Given the description of an element on the screen output the (x, y) to click on. 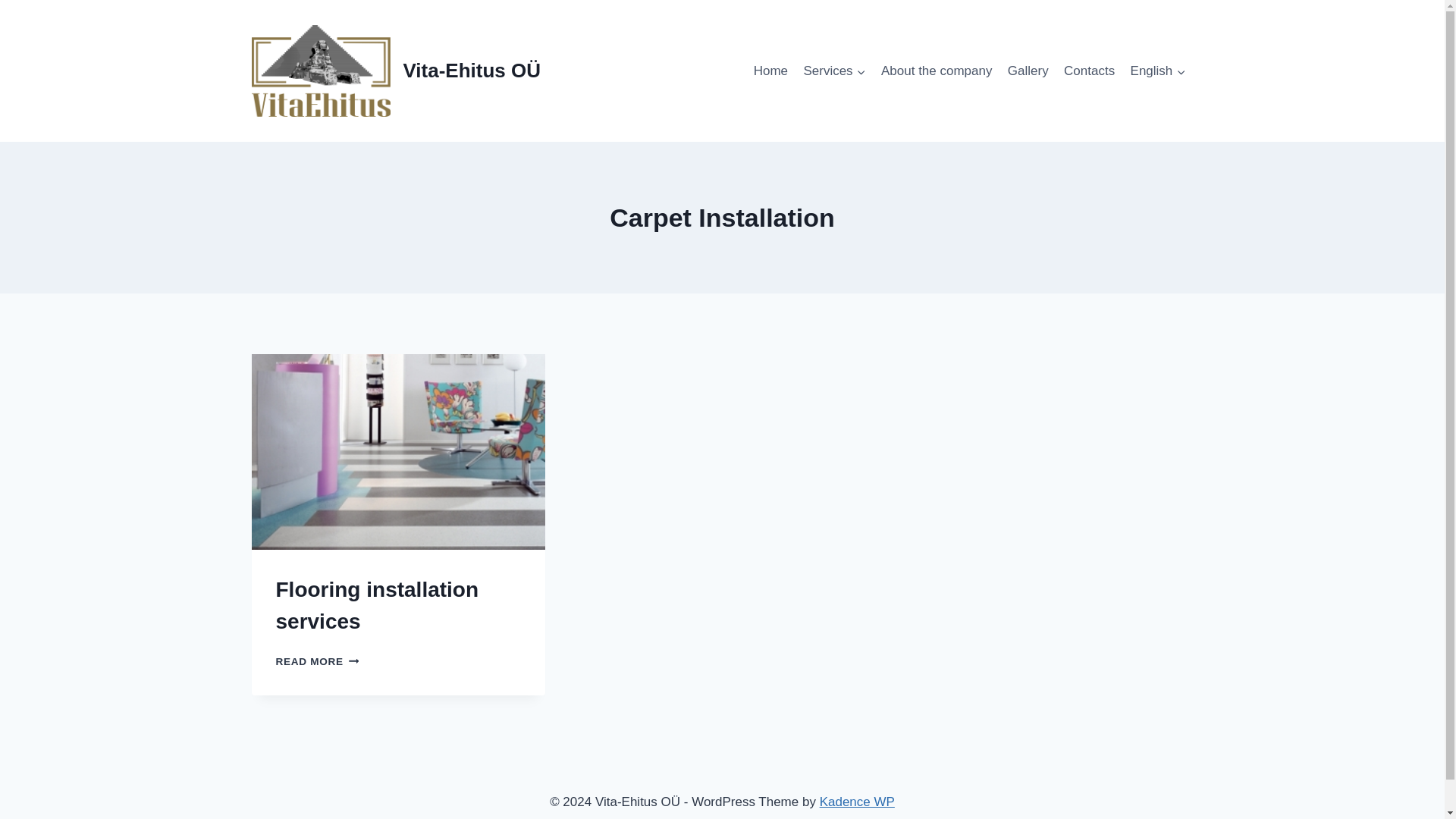
Contacts (1089, 71)
Gallery (1028, 71)
Flooring installation services (377, 605)
Home (317, 661)
About the company (770, 71)
English (936, 71)
Kadence WP (1157, 71)
Services (857, 801)
